Given the description of an element on the screen output the (x, y) to click on. 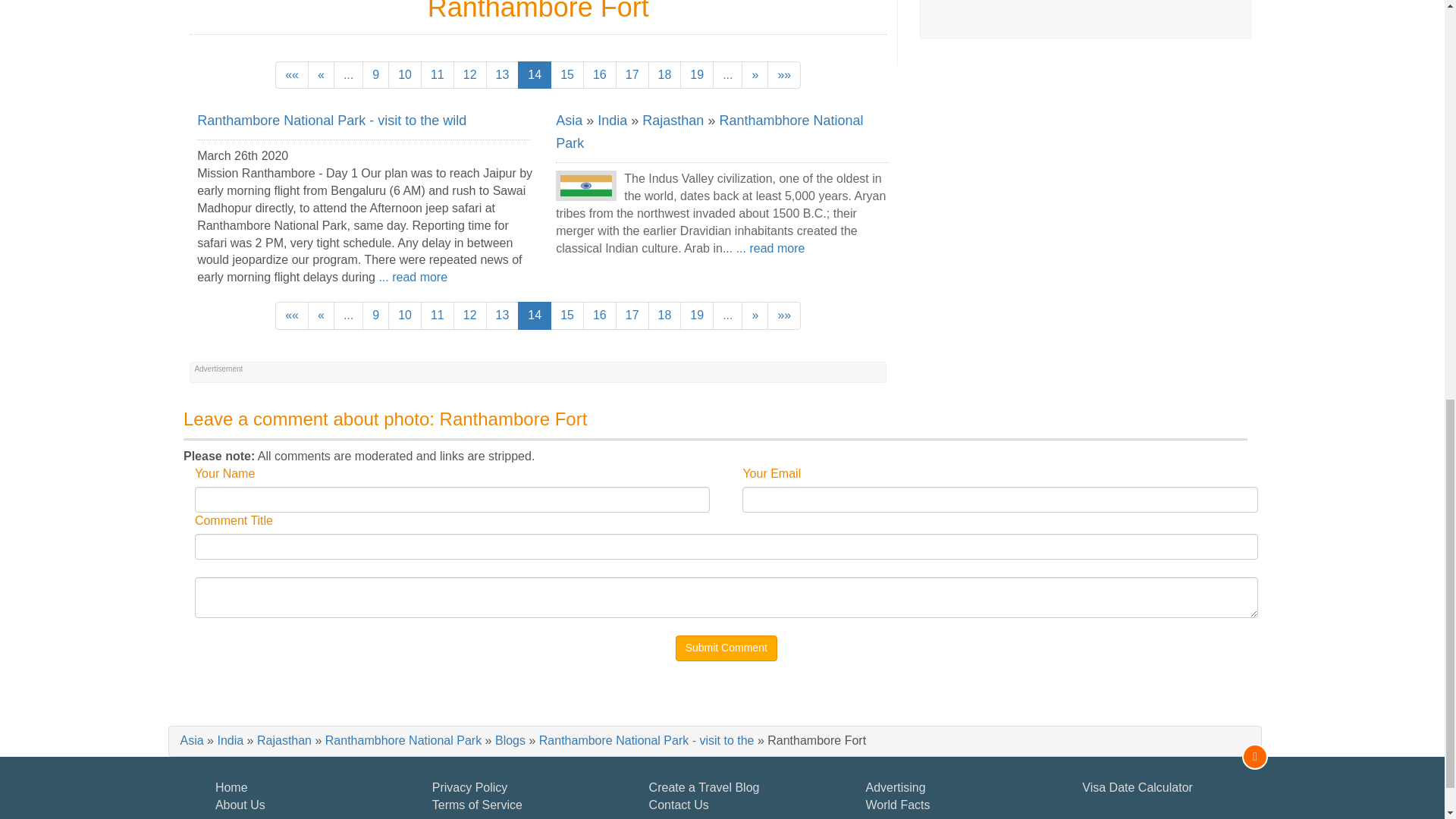
Previous (320, 75)
next (754, 75)
First (291, 75)
